Given the description of an element on the screen output the (x, y) to click on. 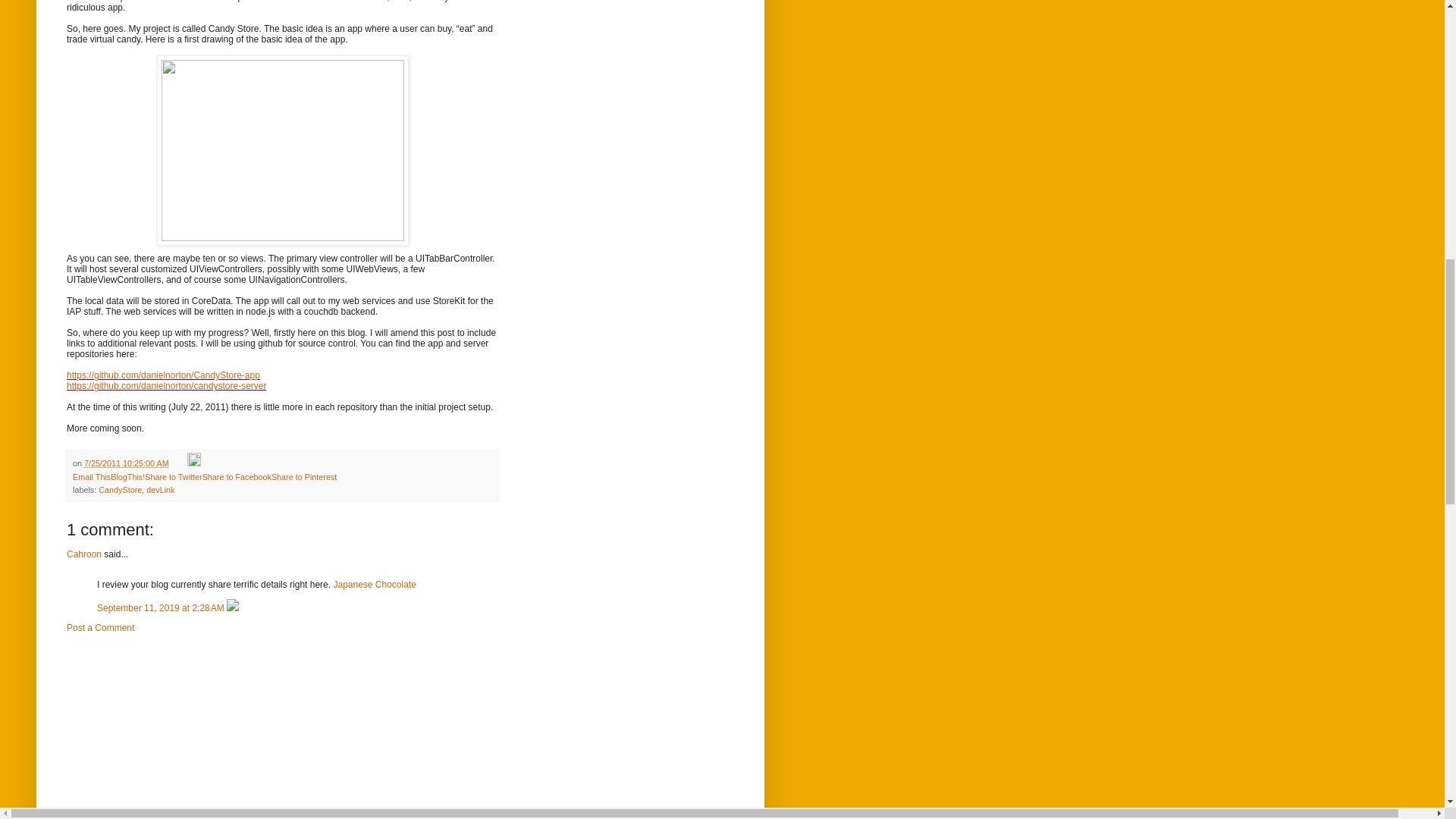
Advertisement (180, 730)
permanent link (126, 462)
BlogThis! (127, 476)
Share to Pinterest (303, 476)
Delete Comment (232, 607)
Share to Twitter (173, 476)
devLink (160, 489)
Email Post (179, 462)
Email This (91, 476)
Share to Twitter (173, 476)
Email This (91, 476)
Cahroon (83, 553)
comment permalink (162, 607)
Share to Facebook (236, 476)
